Given the description of an element on the screen output the (x, y) to click on. 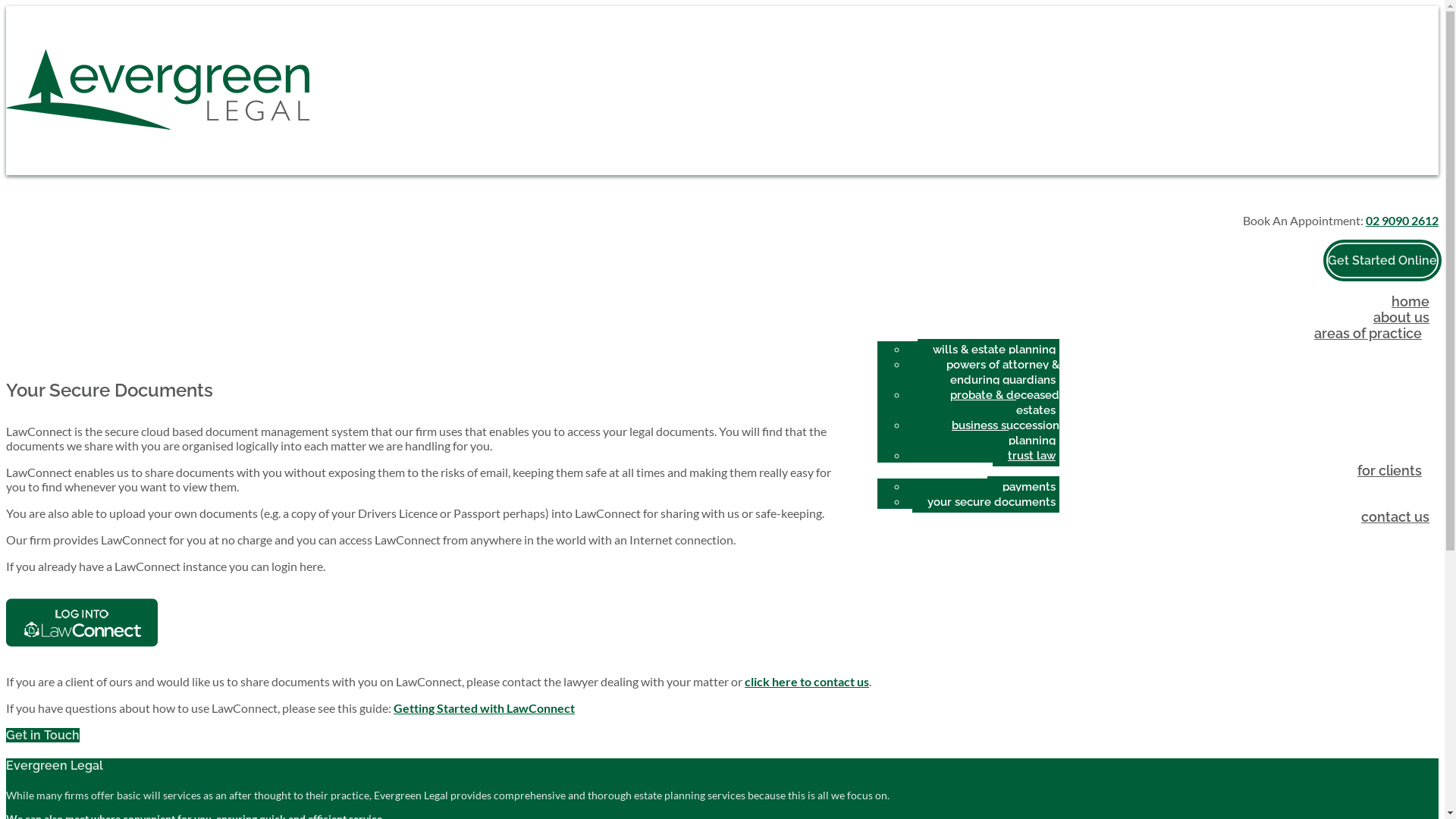
probate & deceased estates Element type: text (997, 402)
Getting Started with LawConnect Element type: text (483, 707)
areas of practice Element type: text (1371, 333)
wills & estate planning Element type: text (988, 349)
contact us Element type: text (1395, 516)
Get in Touch Element type: text (42, 735)
home Element type: text (1410, 301)
payments Element type: text (1023, 486)
trust law Element type: text (1025, 455)
click here to contact us Element type: text (806, 681)
powers of attorney & enduring guardians Element type: text (995, 372)
for clients Element type: text (1393, 470)
02 9090 2612 Element type: text (1401, 220)
about us Element type: text (1401, 317)
Evergreen Legal Element type: hover (157, 124)
business succession planning Element type: text (997, 432)
your secure documents Element type: text (985, 501)
Get Started Online Element type: text (1382, 260)
